Given the description of an element on the screen output the (x, y) to click on. 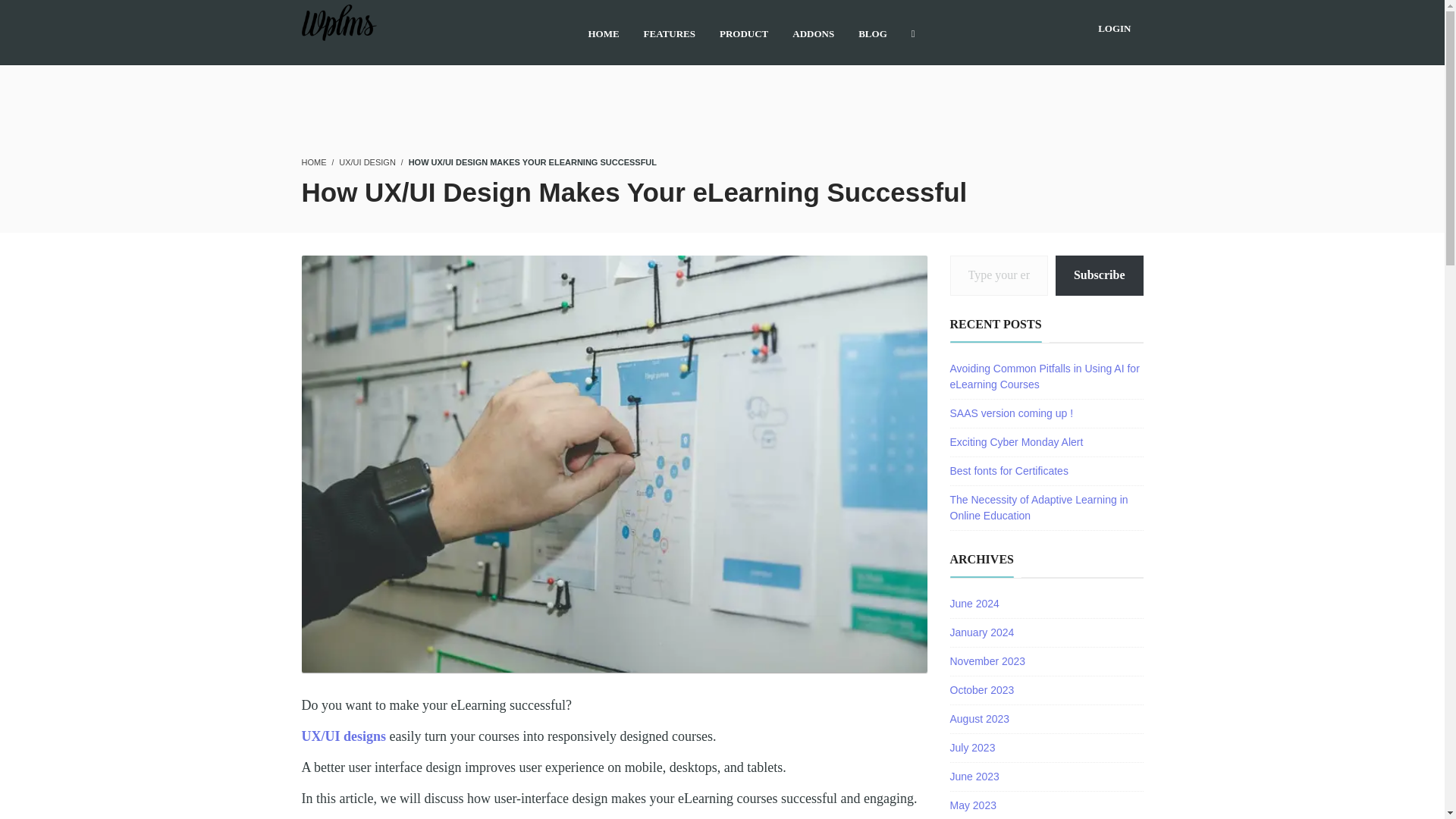
HOME (313, 162)
Please fill in this field. (997, 275)
PRODUCT (743, 32)
FEATURES (669, 32)
